Given the description of an element on the screen output the (x, y) to click on. 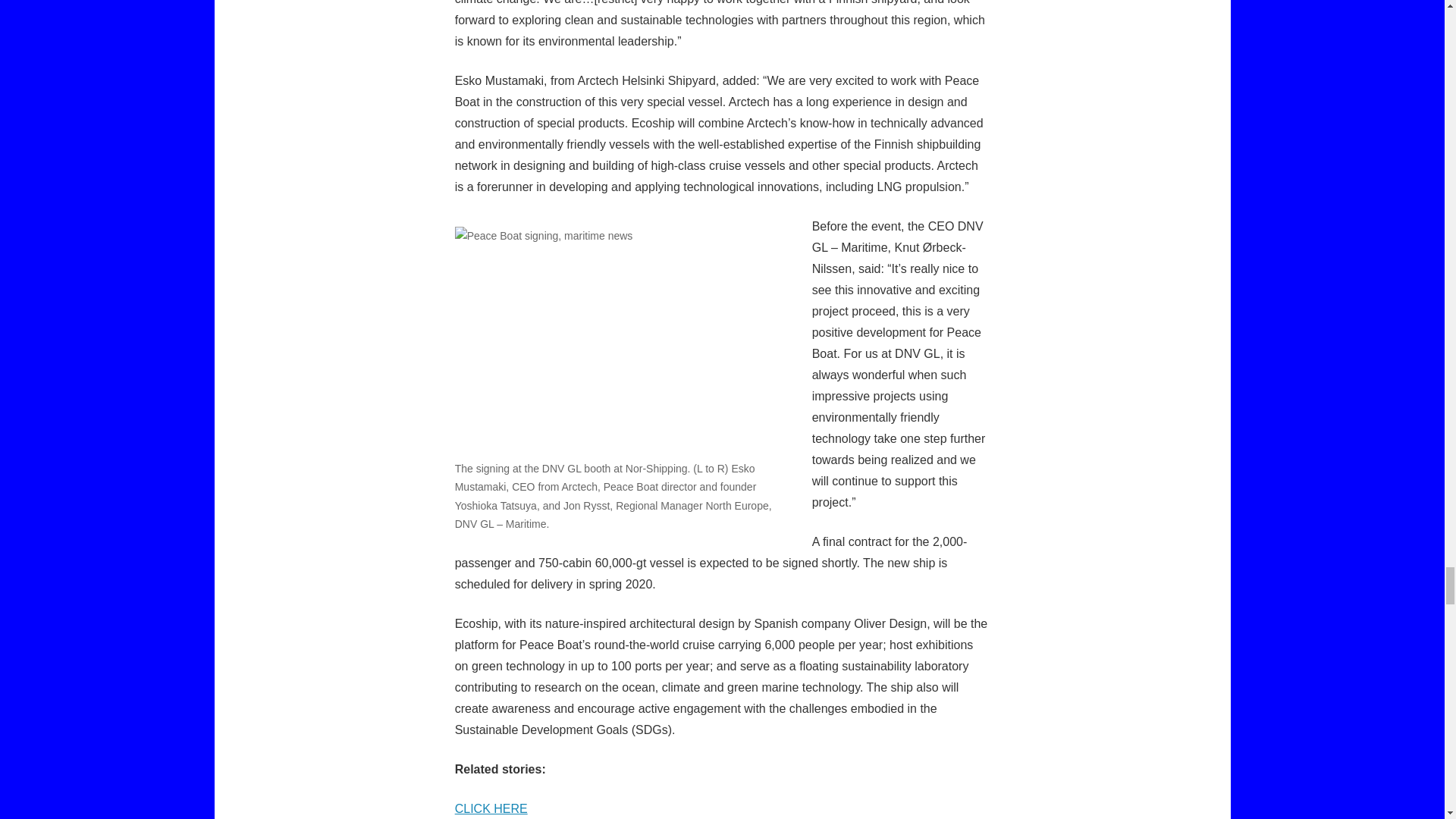
CLICK HERE (490, 808)
